Given the description of an element on the screen output the (x, y) to click on. 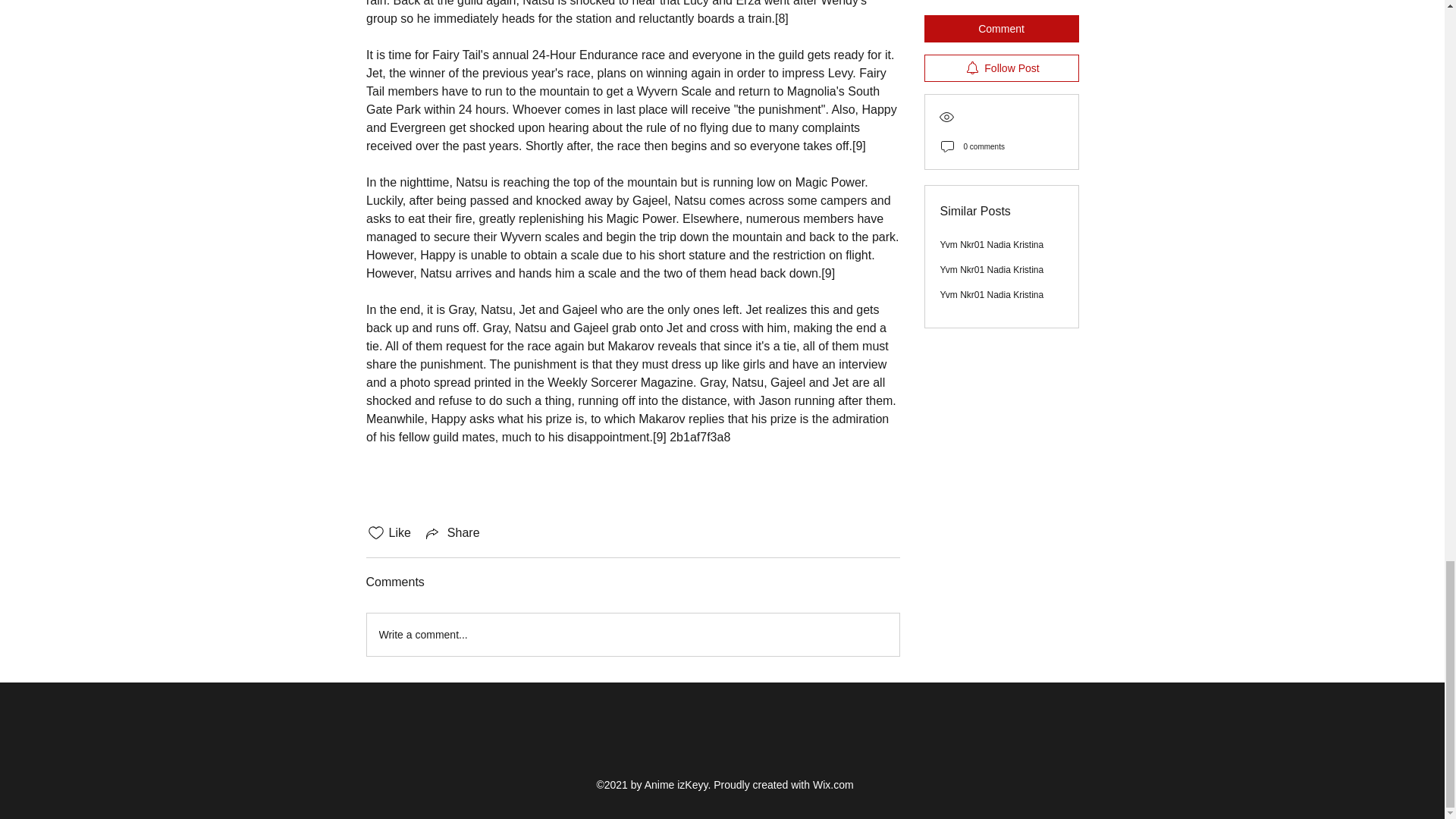
Write a comment... (632, 634)
Share (451, 533)
